Given the description of an element on the screen output the (x, y) to click on. 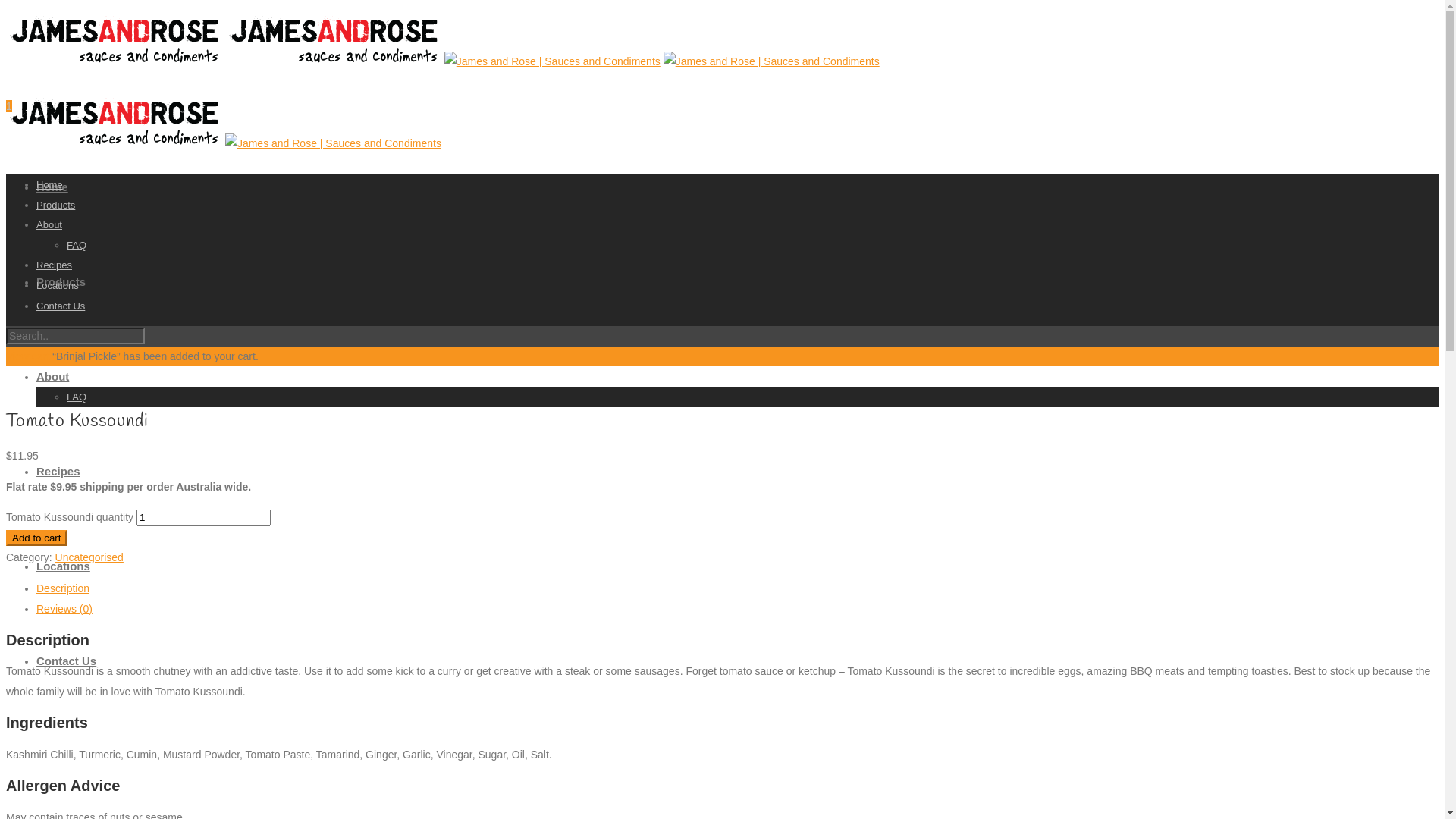
Contact Us Element type: text (66, 660)
Reviews (0) Element type: text (64, 608)
FAQ Element type: text (76, 396)
Locations Element type: text (63, 565)
1 Element type: text (9, 106)
View cart Element type: text (27, 356)
About Element type: text (52, 376)
Qty Element type: hover (203, 517)
Add to cart Element type: text (36, 538)
Recipes Element type: text (54, 264)
Recipes Element type: text (58, 470)
Locations Element type: text (57, 285)
Products Element type: text (60, 281)
Home Element type: text (49, 184)
Products Element type: text (55, 204)
FAQ Element type: text (76, 245)
Description Element type: text (62, 588)
Uncategorised Element type: text (89, 557)
Contact Us Element type: text (60, 305)
Home Element type: text (52, 186)
About Element type: text (49, 224)
